Given the description of an element on the screen output the (x, y) to click on. 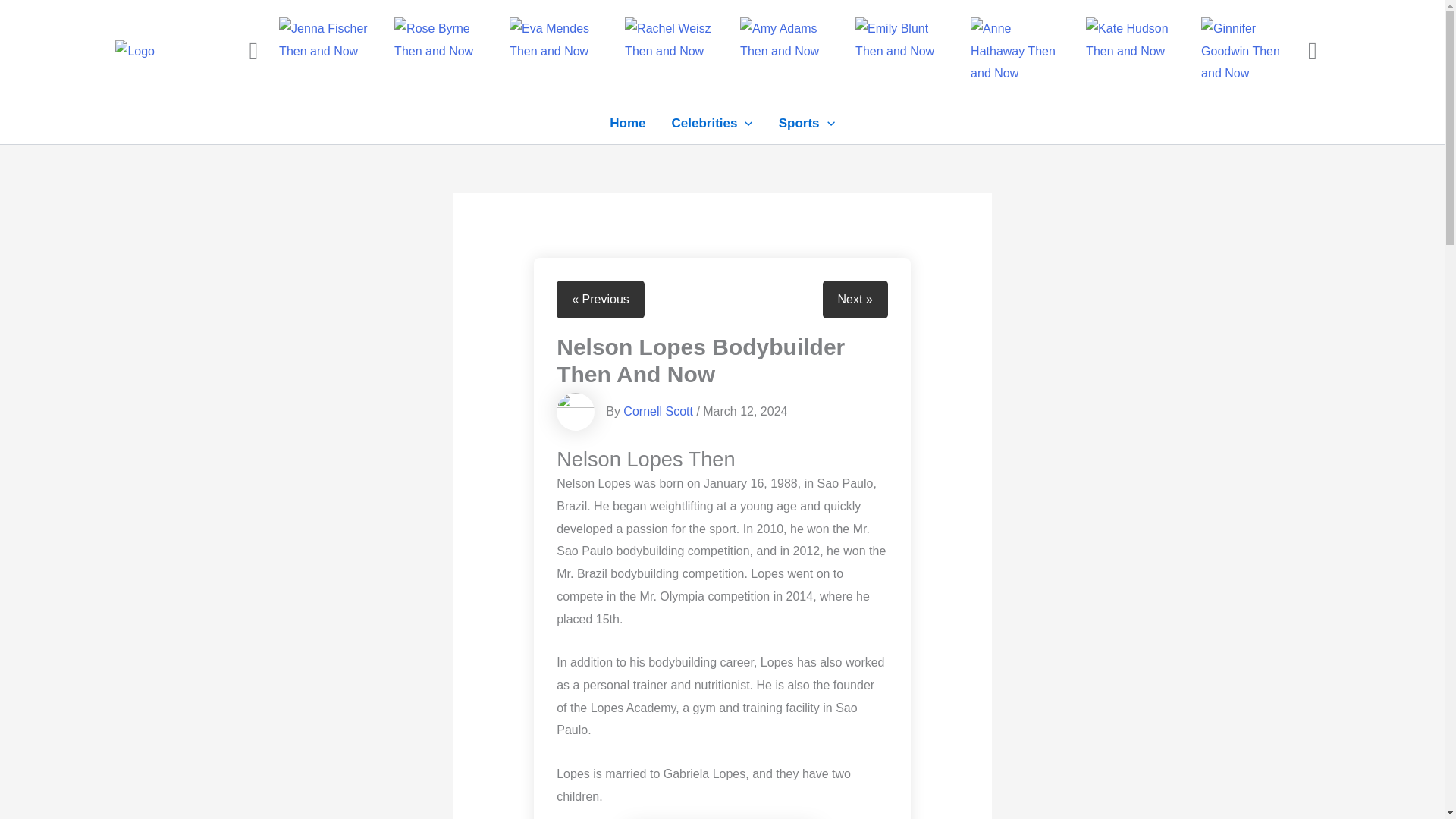
Home (627, 123)
Celebrities (712, 123)
Posts by Cornell Scott (658, 410)
Sports (806, 123)
